Given the description of an element on the screen output the (x, y) to click on. 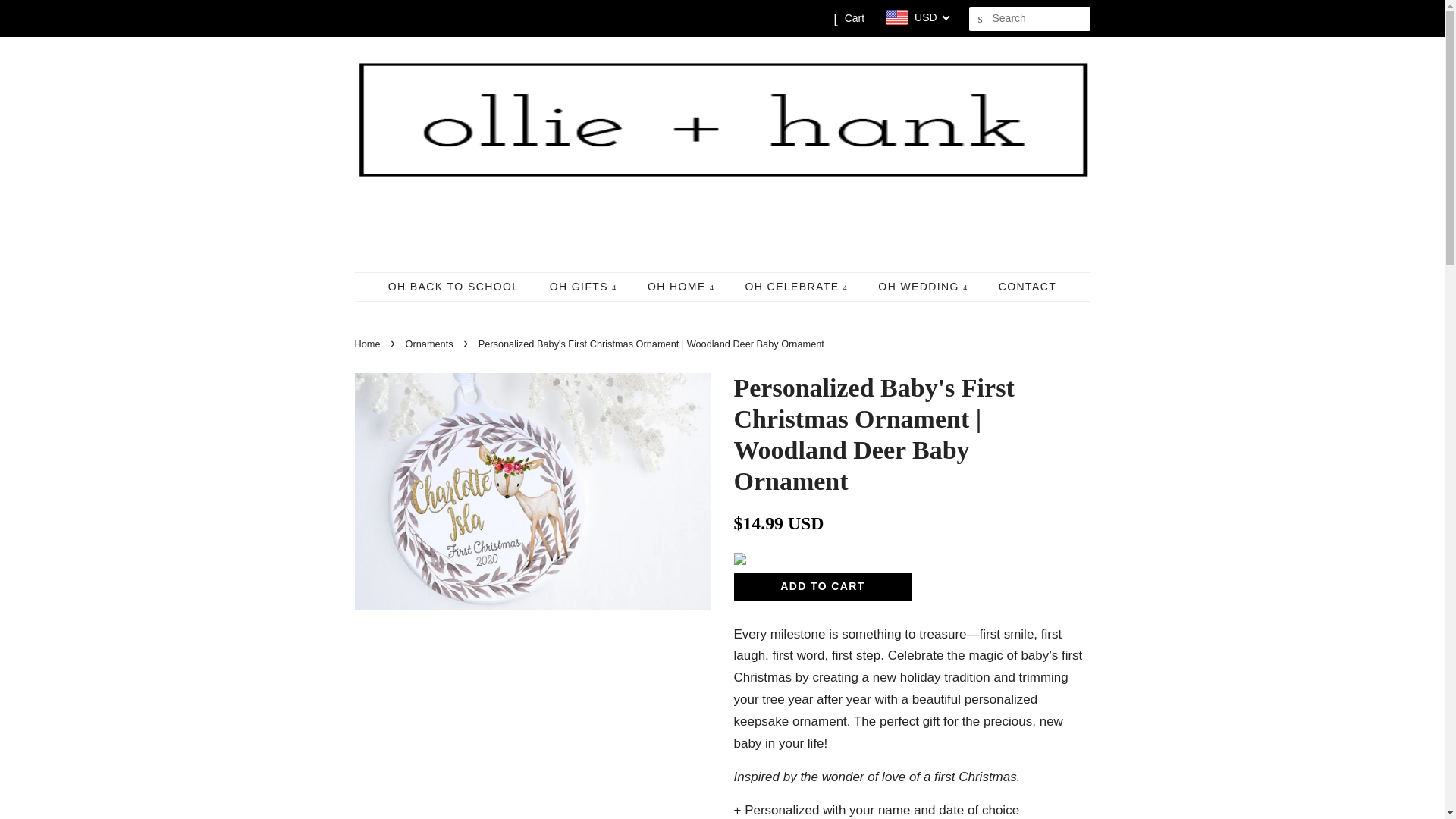
Back to the frontpage (369, 343)
SEARCH (980, 18)
Cart (854, 18)
